Given the description of an element on the screen output the (x, y) to click on. 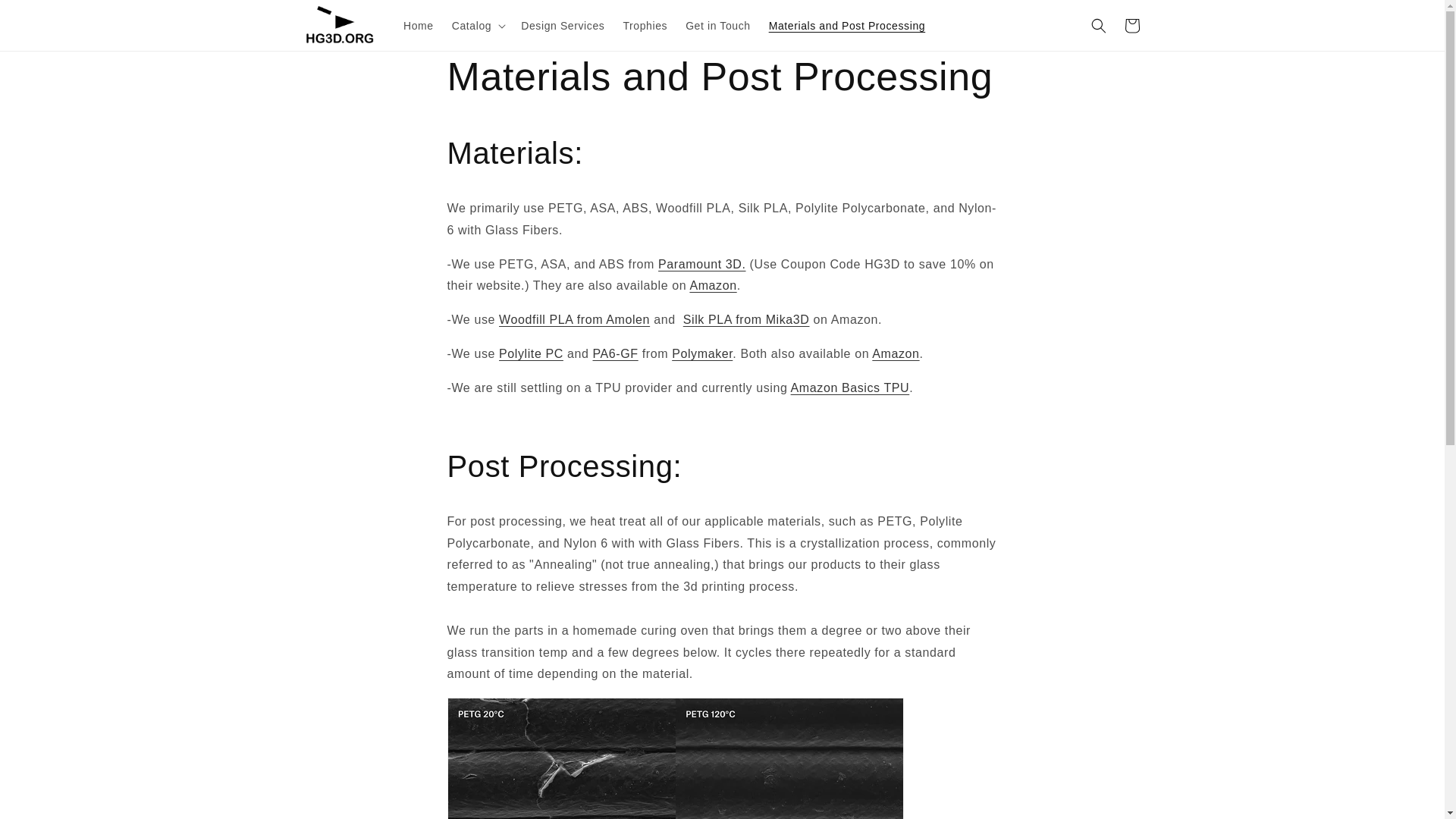
Cart (1131, 25)
Amazon Basics TPU (850, 387)
Skip to content (45, 17)
Paramount 3D. (701, 264)
Polylite PC (531, 353)
Design Services (562, 24)
Home (418, 24)
Materials and Post Processing (847, 24)
Trophies (644, 24)
Get in Touch (718, 24)
